Given the description of an element on the screen output the (x, y) to click on. 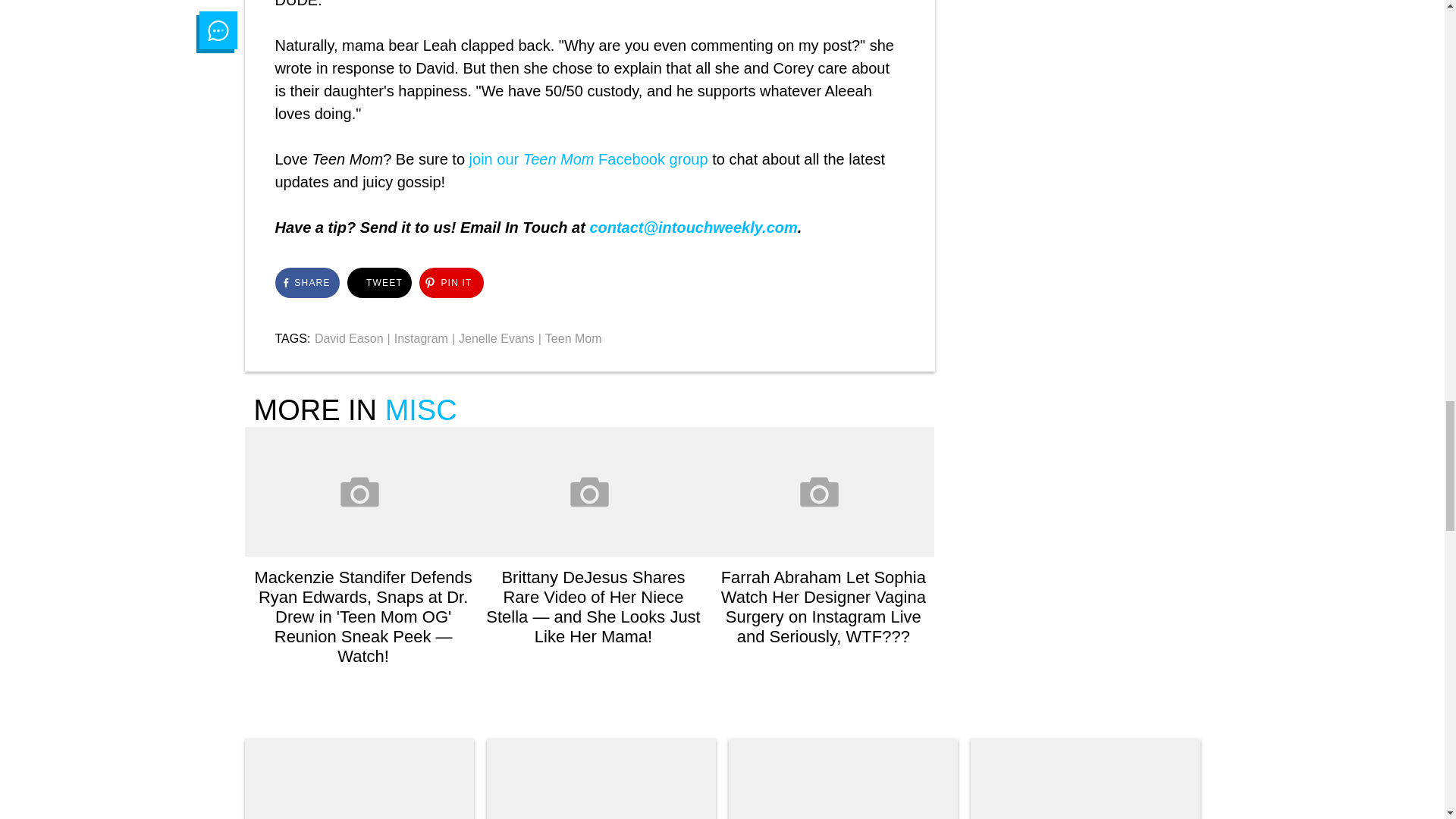
Click to share on Pinterest (451, 282)
Click to share on Facebook (307, 282)
Click to share on Twitter (379, 282)
